Given the description of an element on the screen output the (x, y) to click on. 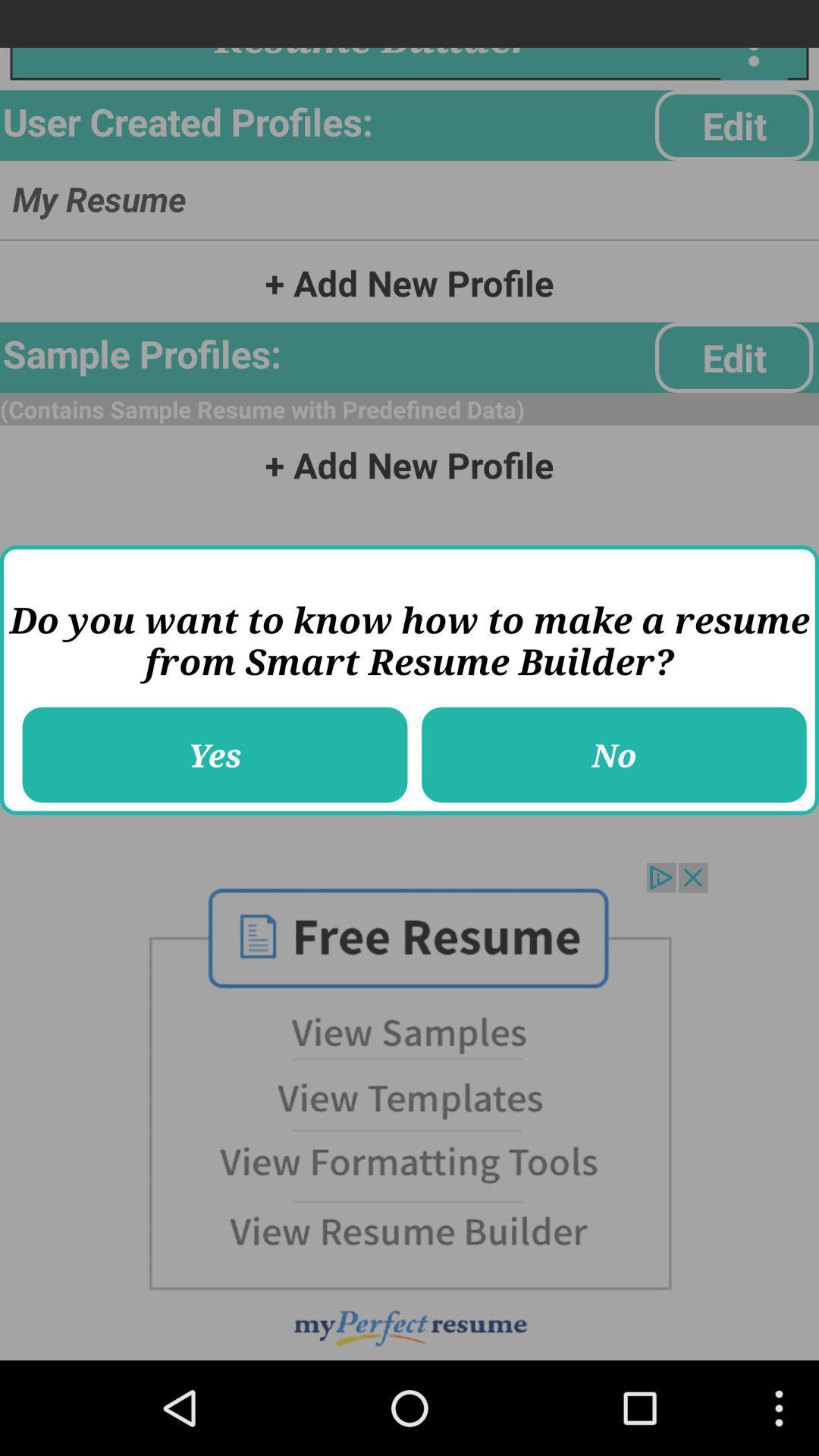
select item to the left of the no (214, 754)
